Given the description of an element on the screen output the (x, y) to click on. 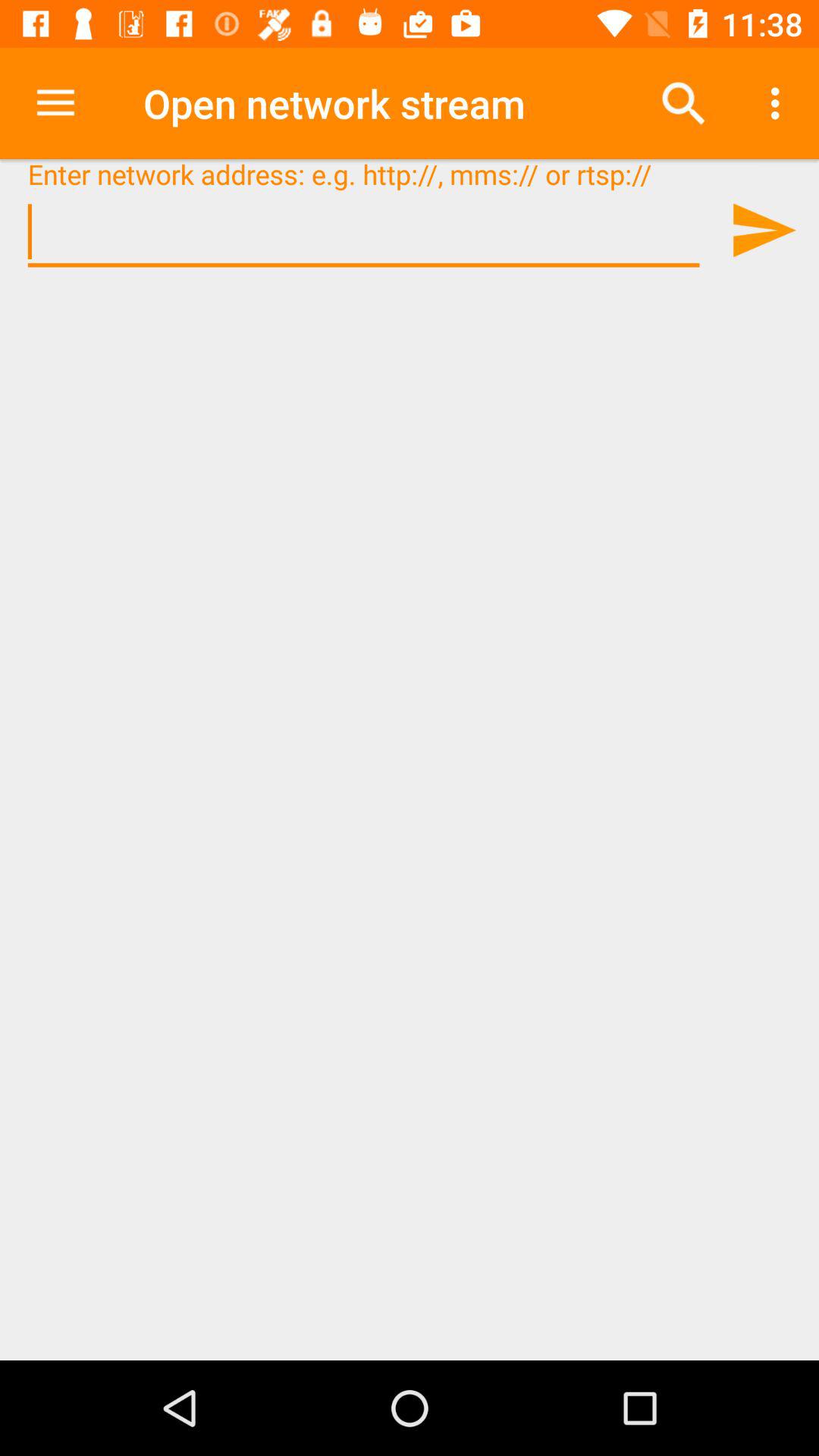
insert url (363, 232)
